Given the description of an element on the screen output the (x, y) to click on. 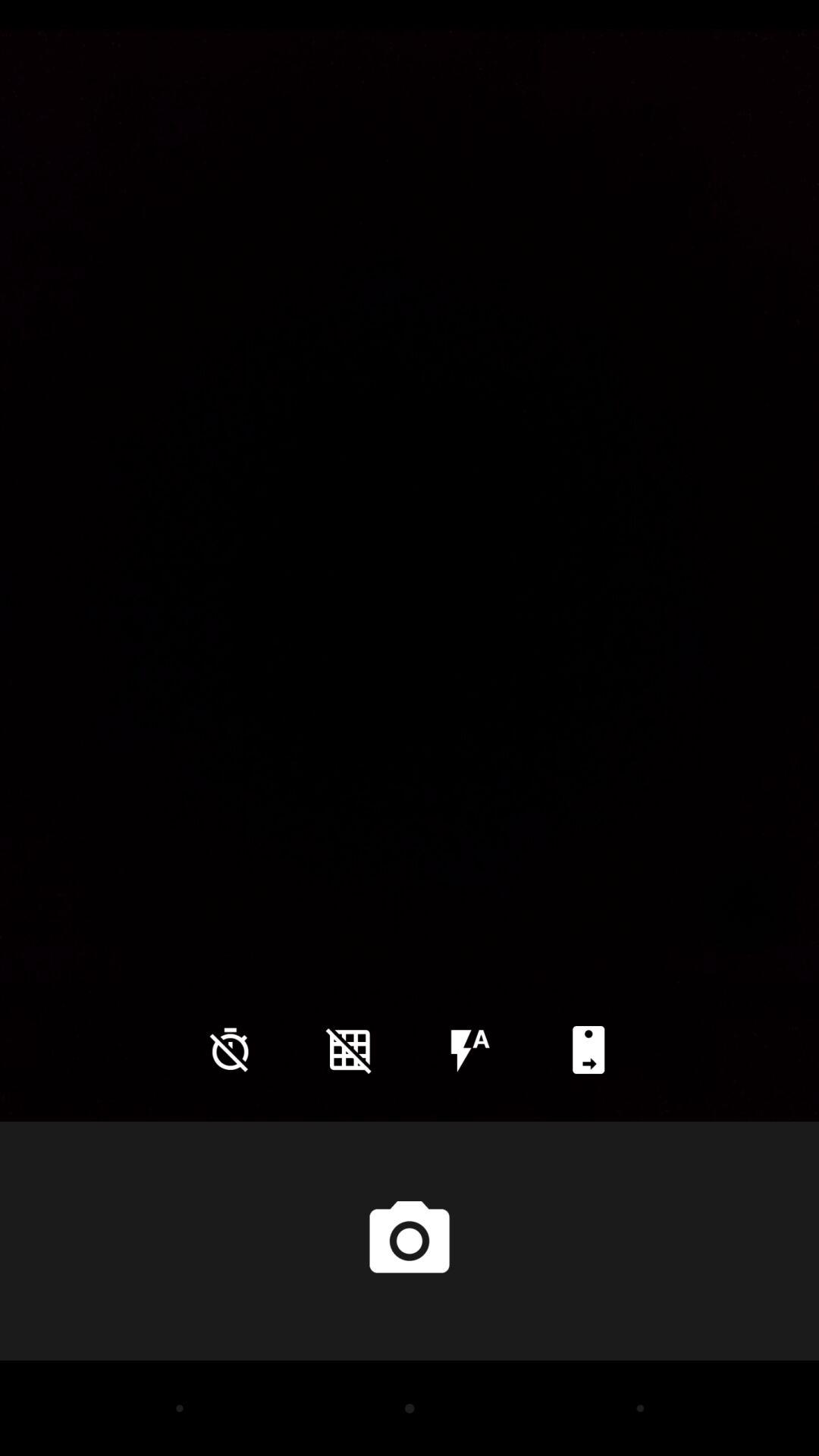
choose item at the bottom left corner (230, 1049)
